Given the description of an element on the screen output the (x, y) to click on. 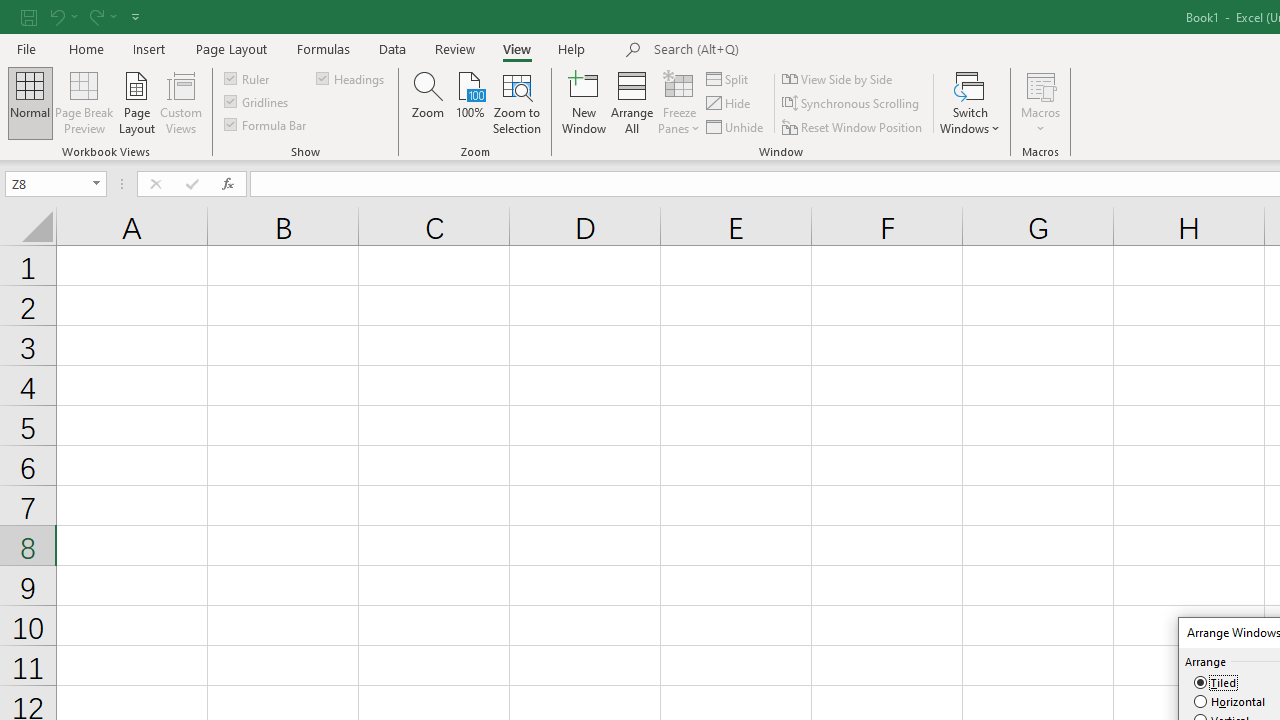
Freeze Panes (678, 102)
New Window (584, 102)
